Given the description of an element on the screen output the (x, y) to click on. 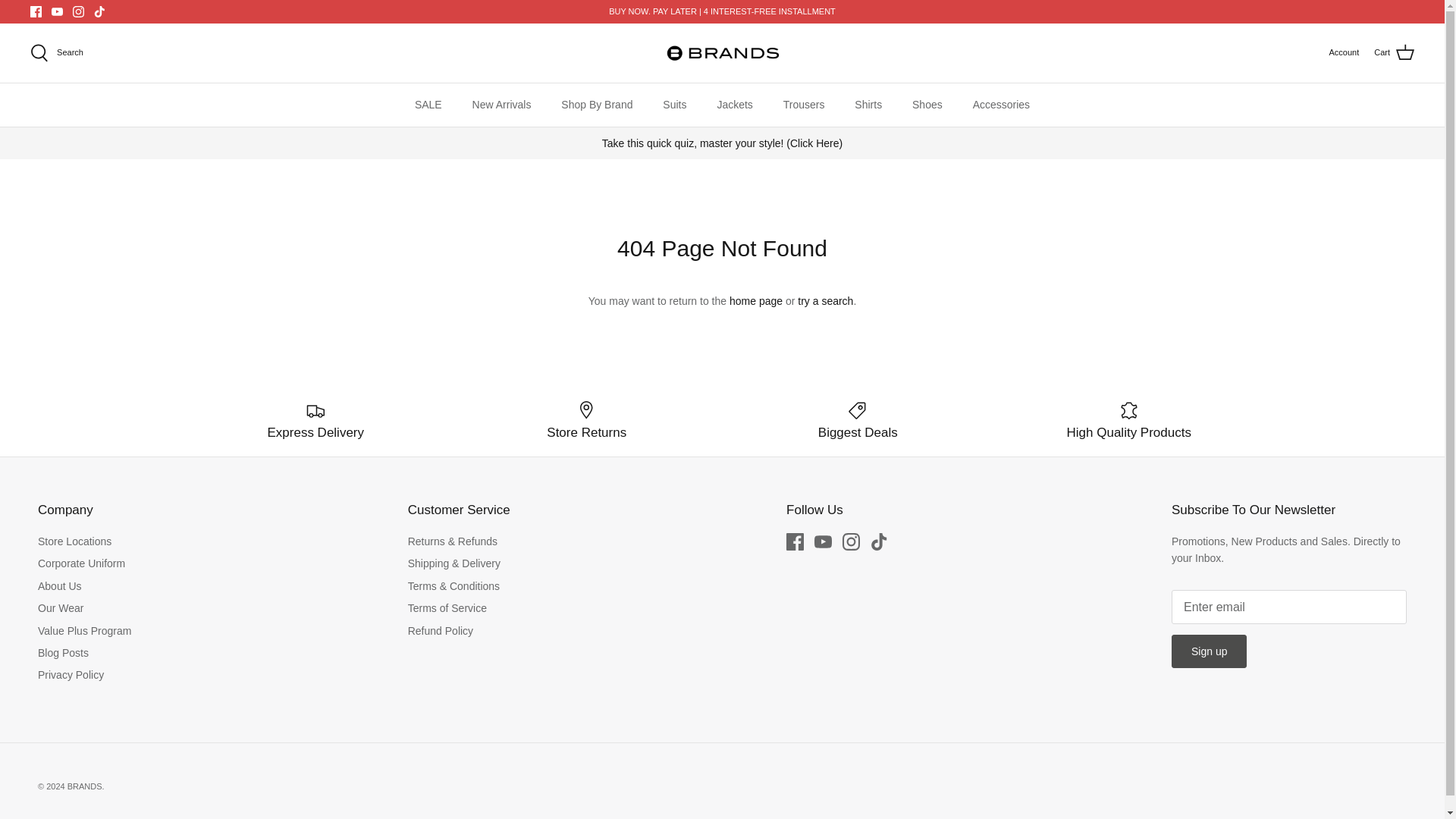
Youtube (56, 11)
Search (56, 53)
Cart (1393, 53)
Instagram (851, 541)
Youtube (822, 541)
Account (1342, 52)
Facebook (36, 11)
BRANDS (721, 52)
Youtube (56, 11)
Instagram (78, 11)
SALE (428, 104)
Facebook (36, 11)
Facebook (794, 541)
Instagram (78, 11)
New Arrivals (501, 104)
